Given the description of an element on the screen output the (x, y) to click on. 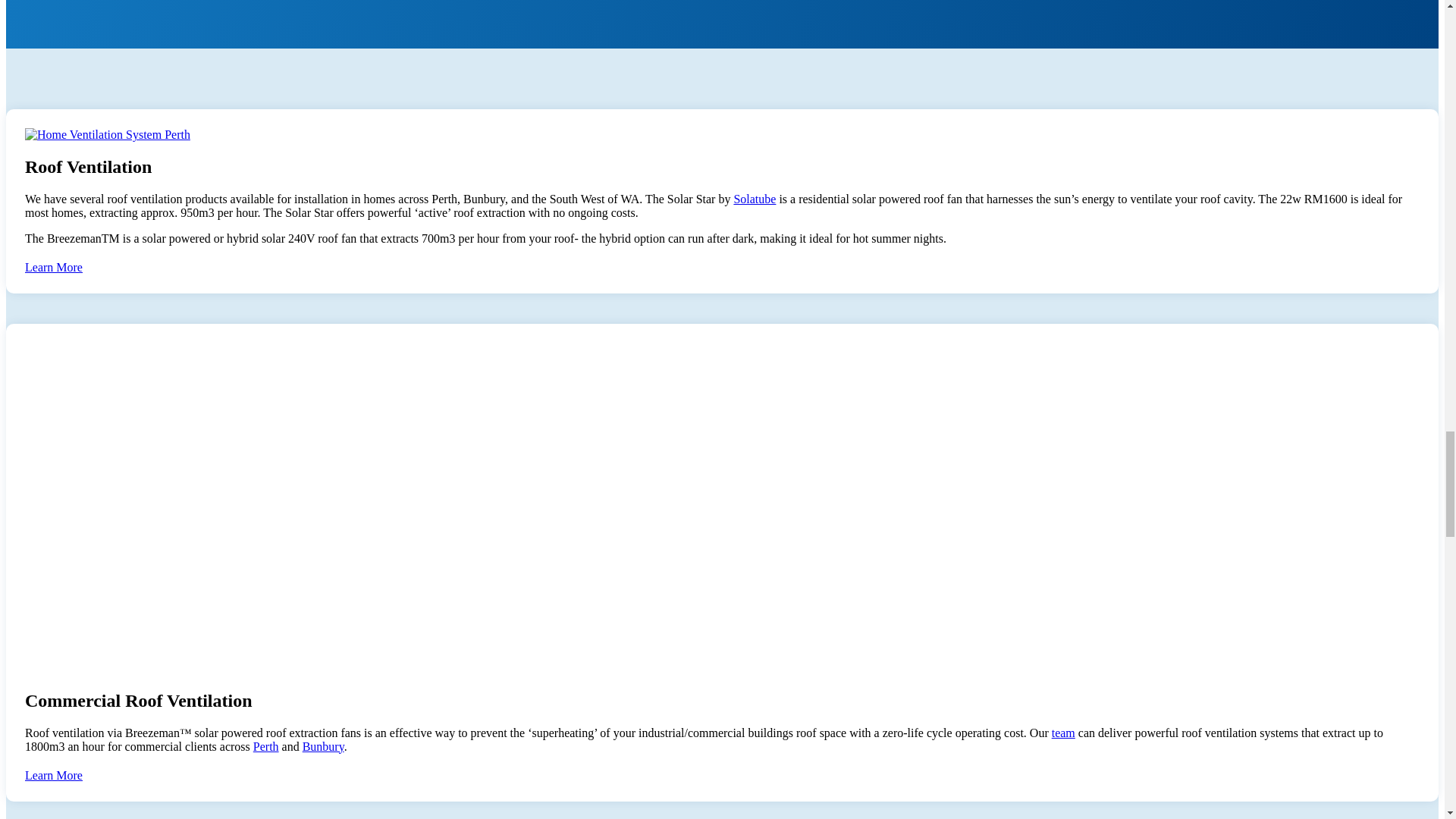
Perth (266, 746)
Solatube (754, 198)
team (1063, 732)
Solatube Skylights (754, 198)
Bunbury (322, 746)
Learn More (53, 267)
Home Ventilation System Perth (107, 134)
